Given the description of an element on the screen output the (x, y) to click on. 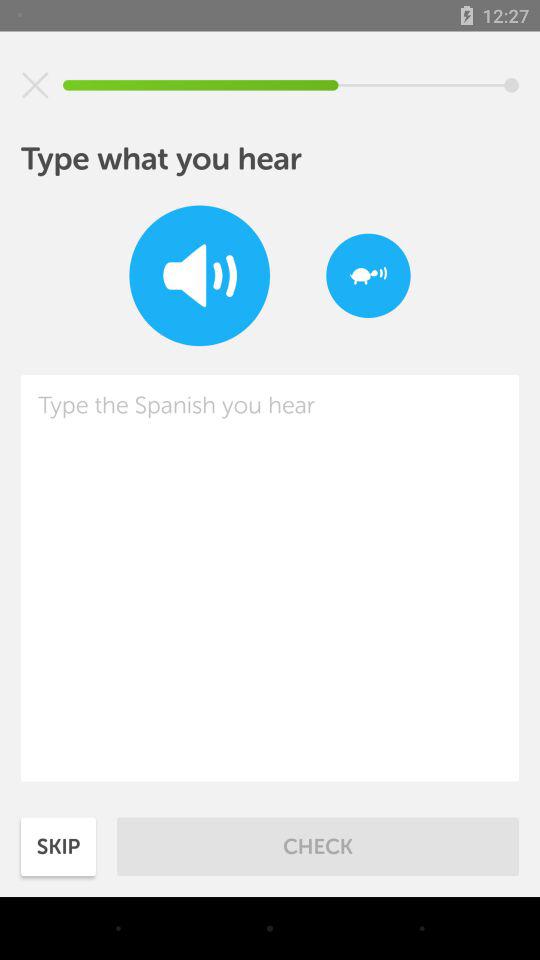
click icon at the top left corner (35, 85)
